Given the description of an element on the screen output the (x, y) to click on. 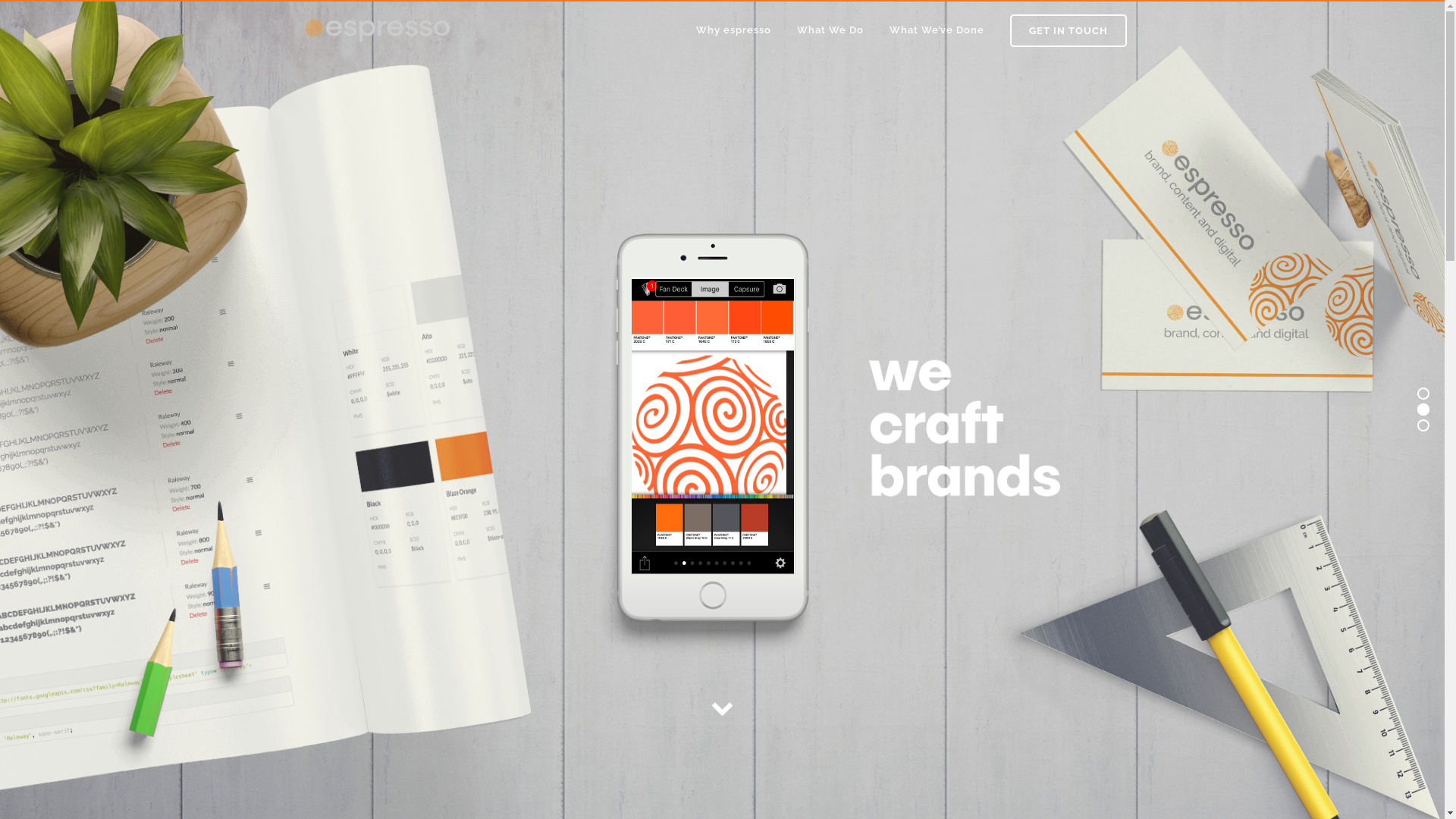
GET IN TOUCH Element type: text (1068, 29)
+61 3 9531 9595 Element type: text (365, 680)
Content Element type: text (729, 688)
What We Do Element type: text (830, 30)
Digital Element type: text (729, 658)
GET IN TOUCH Element type: text (354, 722)
Why espresso Element type: text (732, 30)
Brand Element type: text (729, 717)
